Given the description of an element on the screen output the (x, y) to click on. 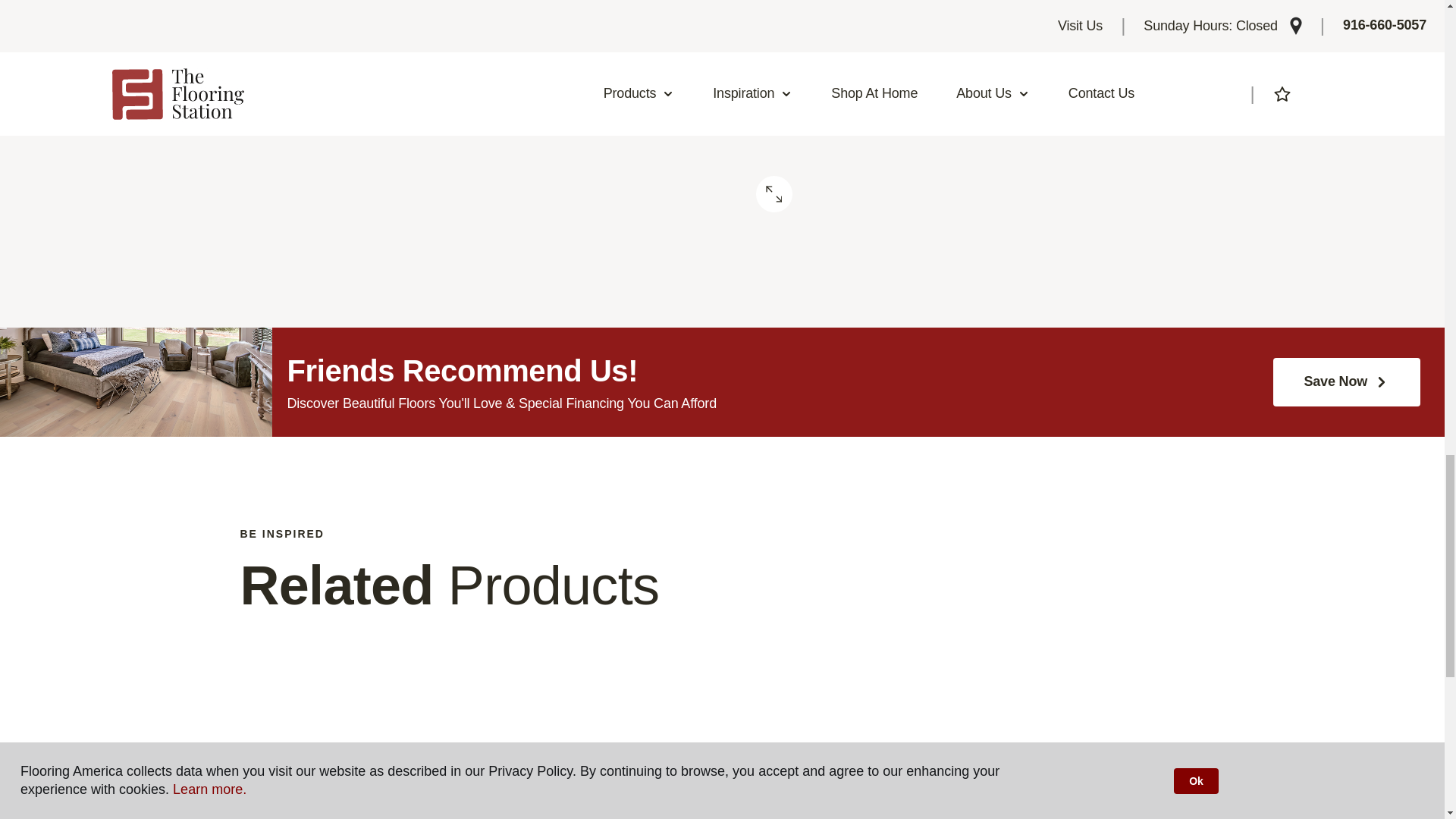
Zoom Swatch (773, 194)
